Given the description of an element on the screen output the (x, y) to click on. 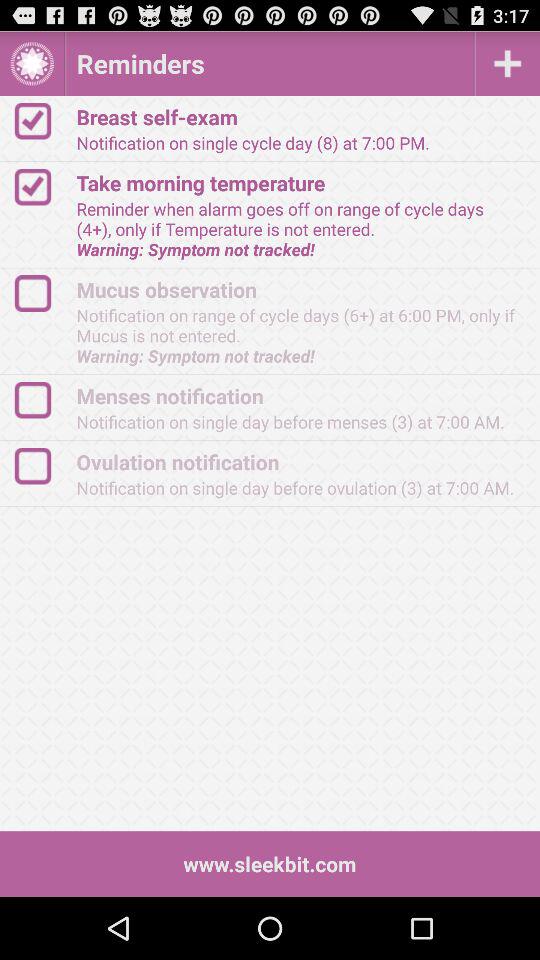
share (41, 186)
